Given the description of an element on the screen output the (x, y) to click on. 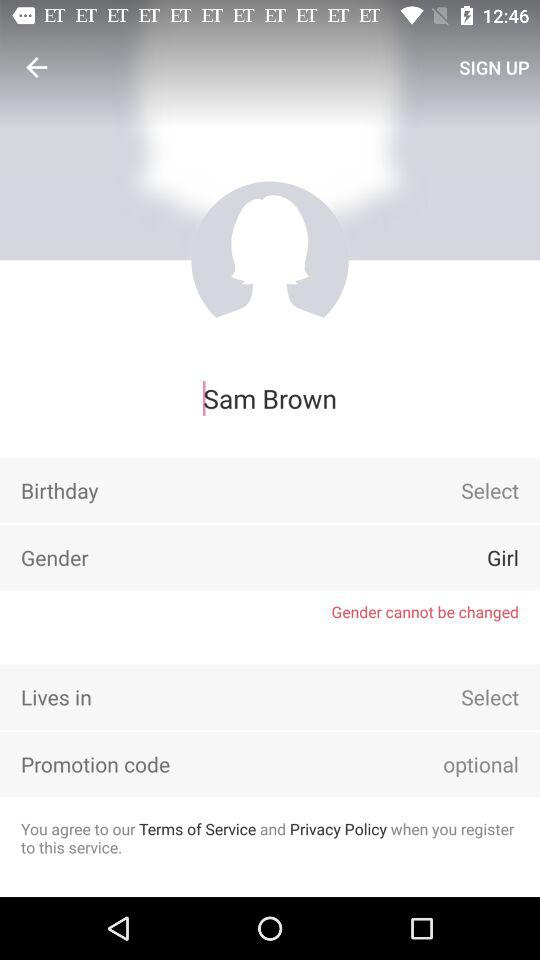
select profile picture (269, 260)
